Given the description of an element on the screen output the (x, y) to click on. 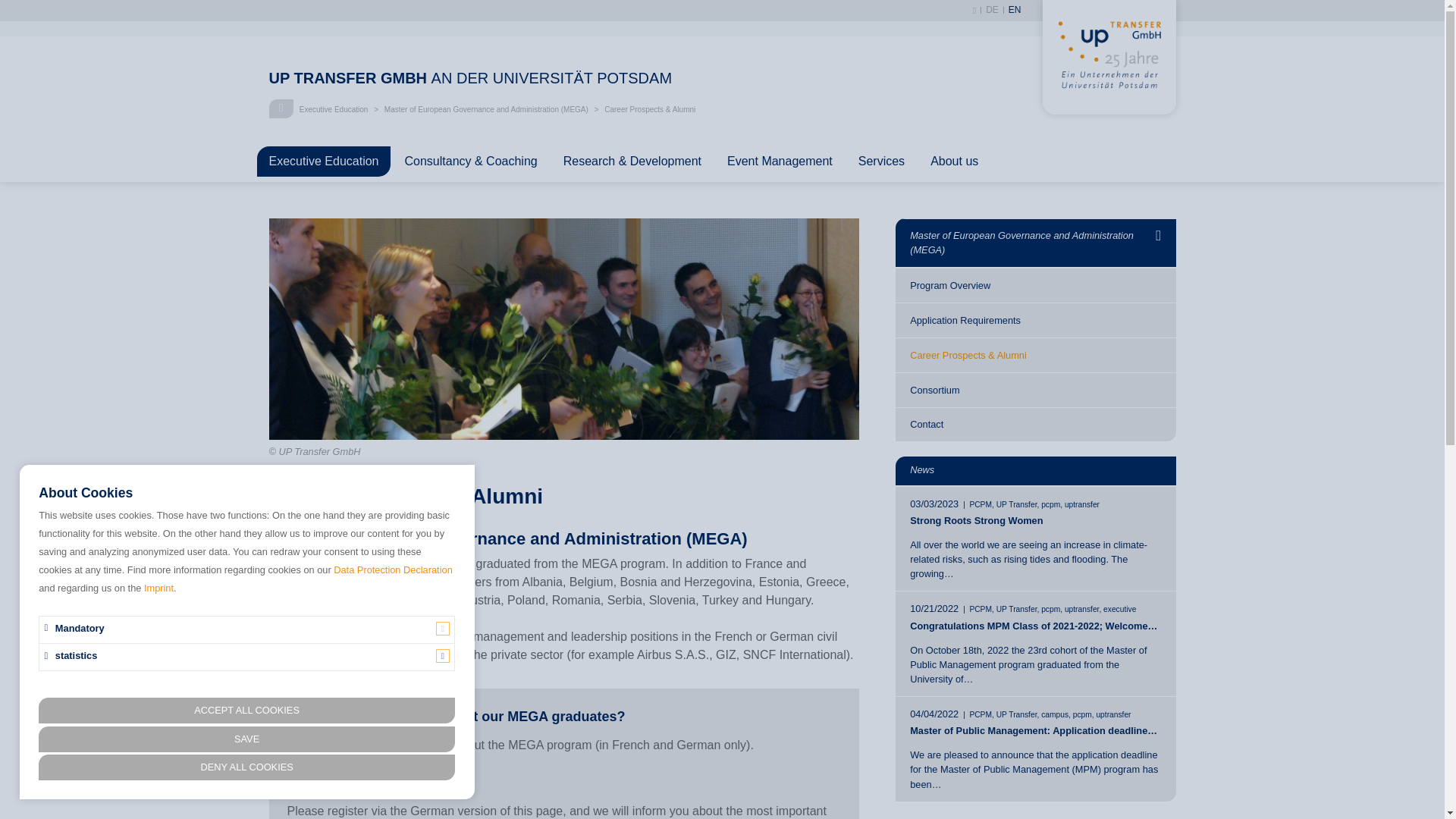
To home (629, 75)
About us (954, 160)
Executive Education (334, 108)
Services (881, 160)
Executive Education (323, 160)
Executive Education (323, 160)
Event Management (779, 160)
Executive Education (334, 108)
DE (991, 9)
To home (1108, 104)
UP Transfer GmbH (280, 108)
DE (991, 9)
